Given the description of an element on the screen output the (x, y) to click on. 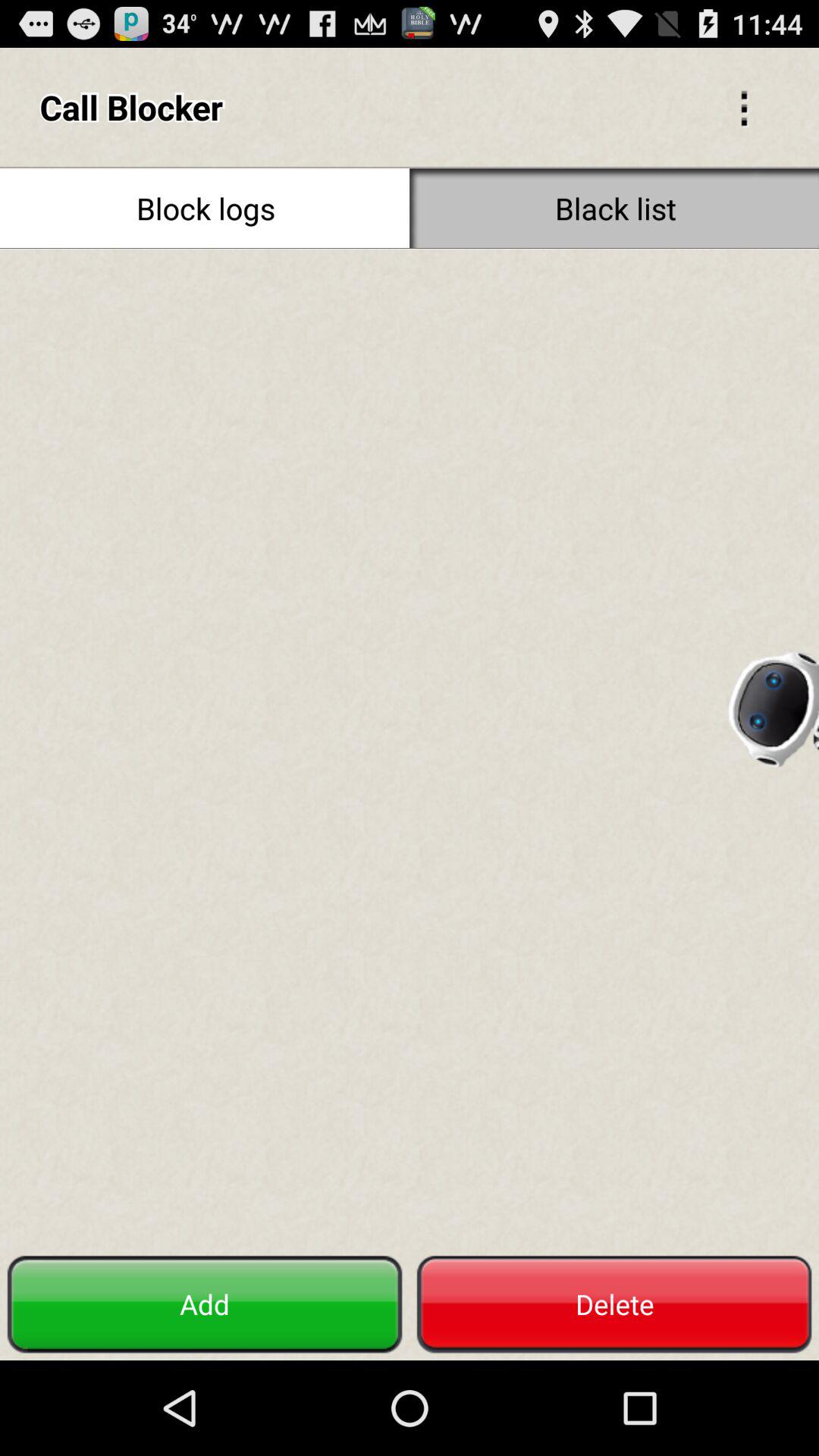
press the item next to delete button (204, 1304)
